Given the description of an element on the screen output the (x, y) to click on. 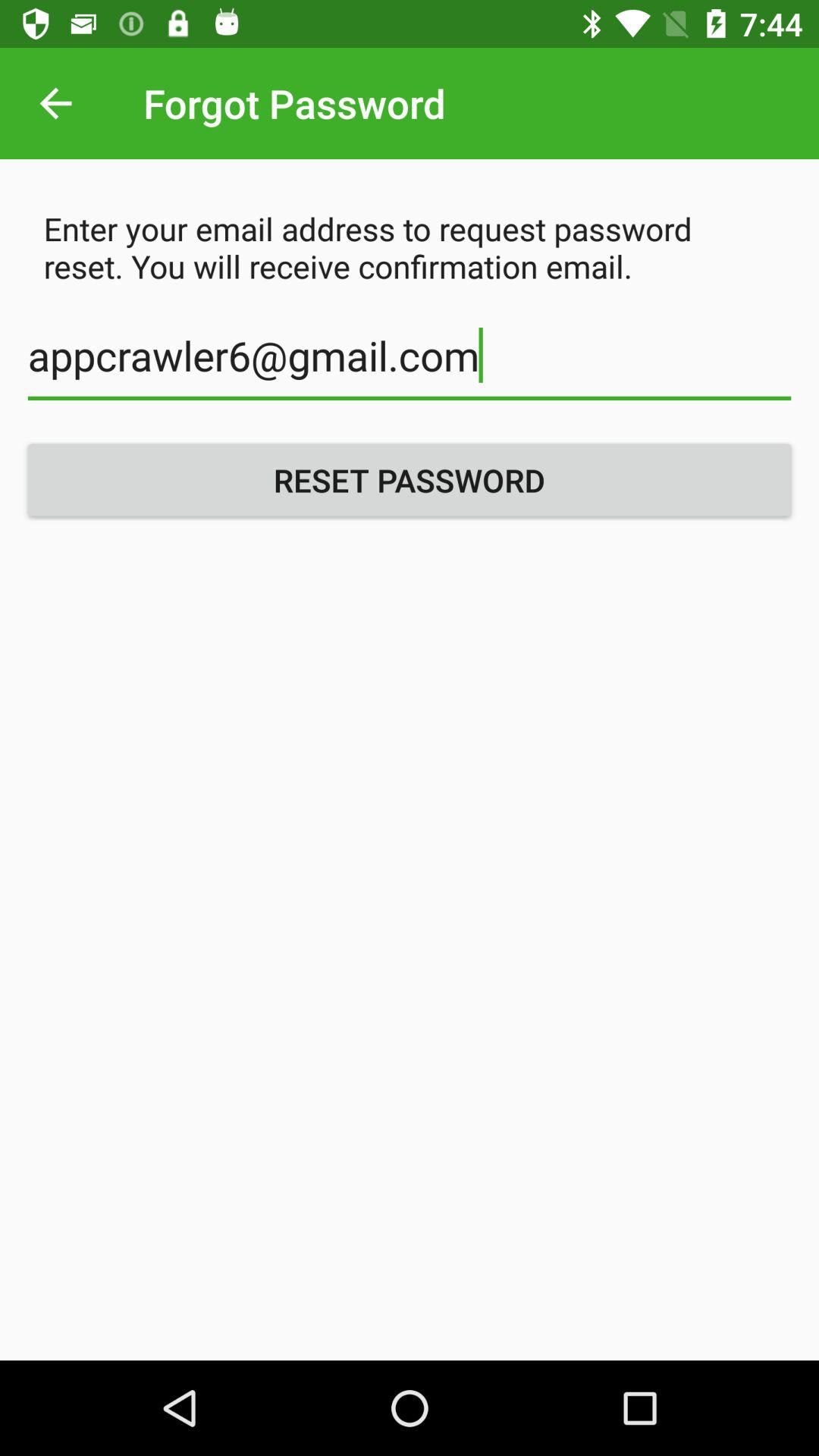
turn off the appcrawler6@gmail.com icon (409, 363)
